Given the description of an element on the screen output the (x, y) to click on. 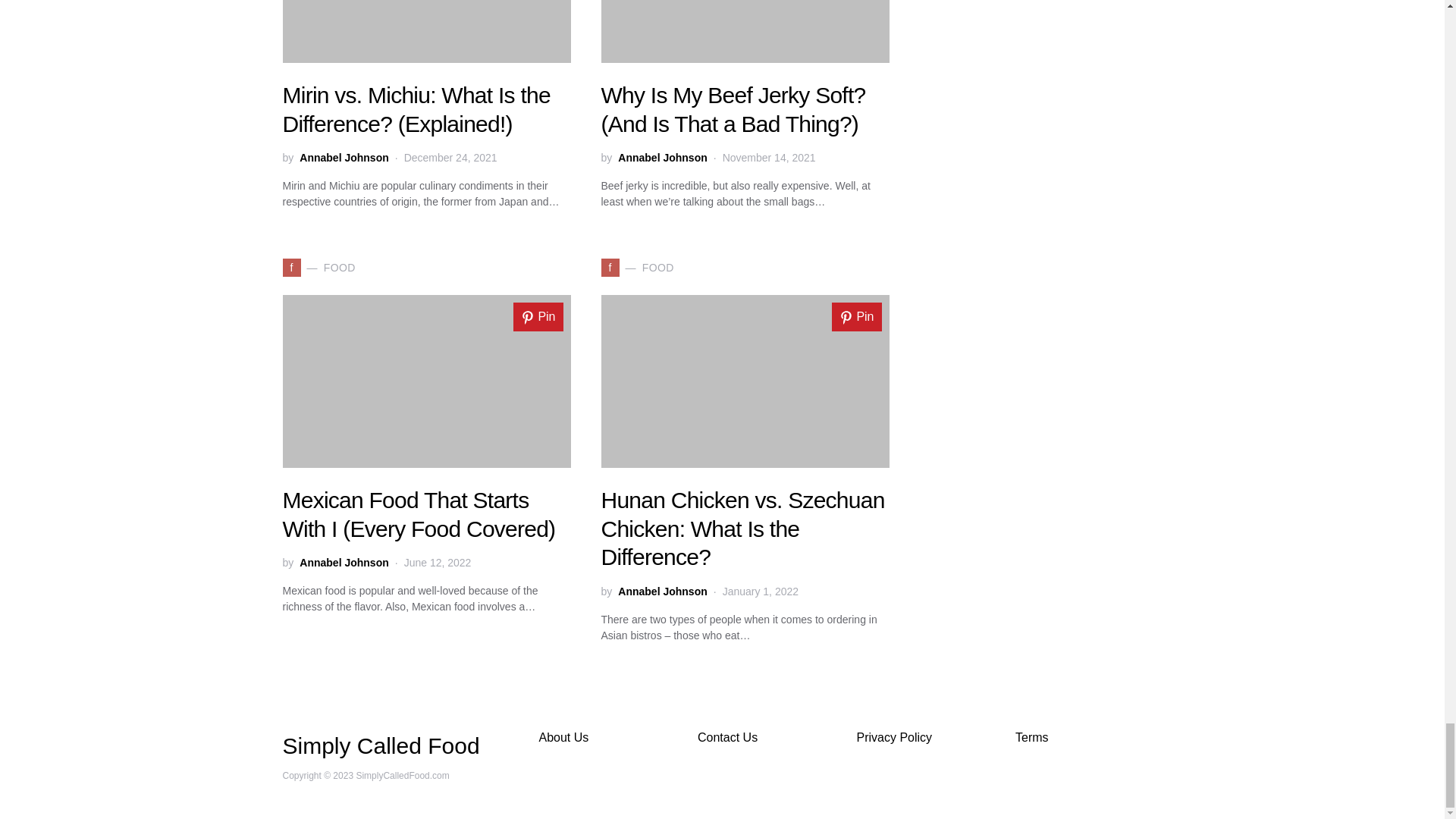
View all posts by Annabel Johnson (343, 562)
View all posts by Annabel Johnson (661, 157)
View all posts by Annabel Johnson (661, 591)
View all posts by Annabel Johnson (343, 157)
